Given the description of an element on the screen output the (x, y) to click on. 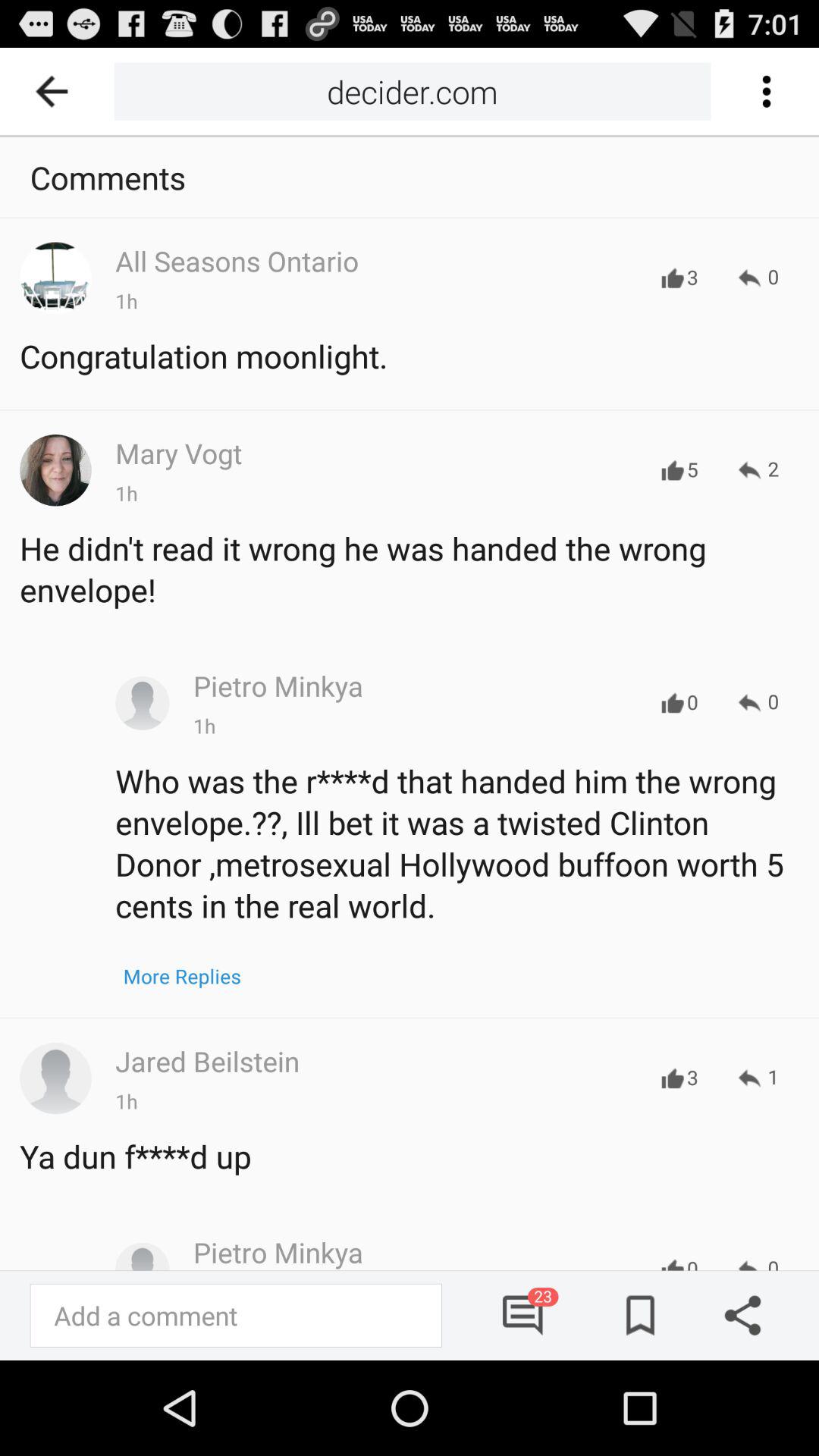
choose the icon to the left of the decider.com item (57, 91)
